Given the description of an element on the screen output the (x, y) to click on. 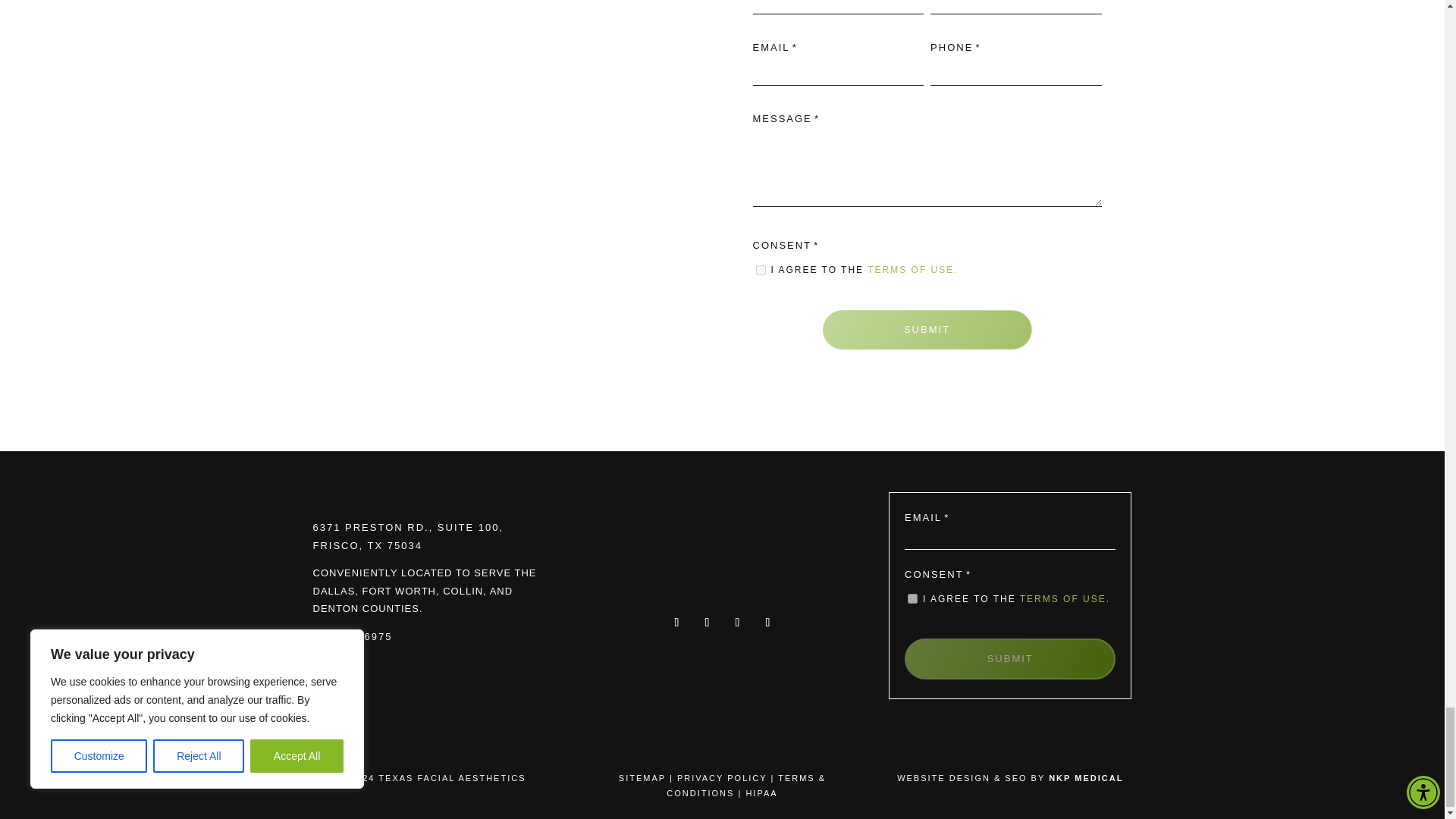
Follow on Instagram (737, 622)
1 (760, 270)
1 (912, 598)
Follow on Youtube (766, 622)
Follow on Facebook (675, 622)
Follow on TikTok (706, 622)
Submit (1009, 658)
Submit (926, 329)
texas facial aesthetics logo white (722, 561)
